Given the description of an element on the screen output the (x, y) to click on. 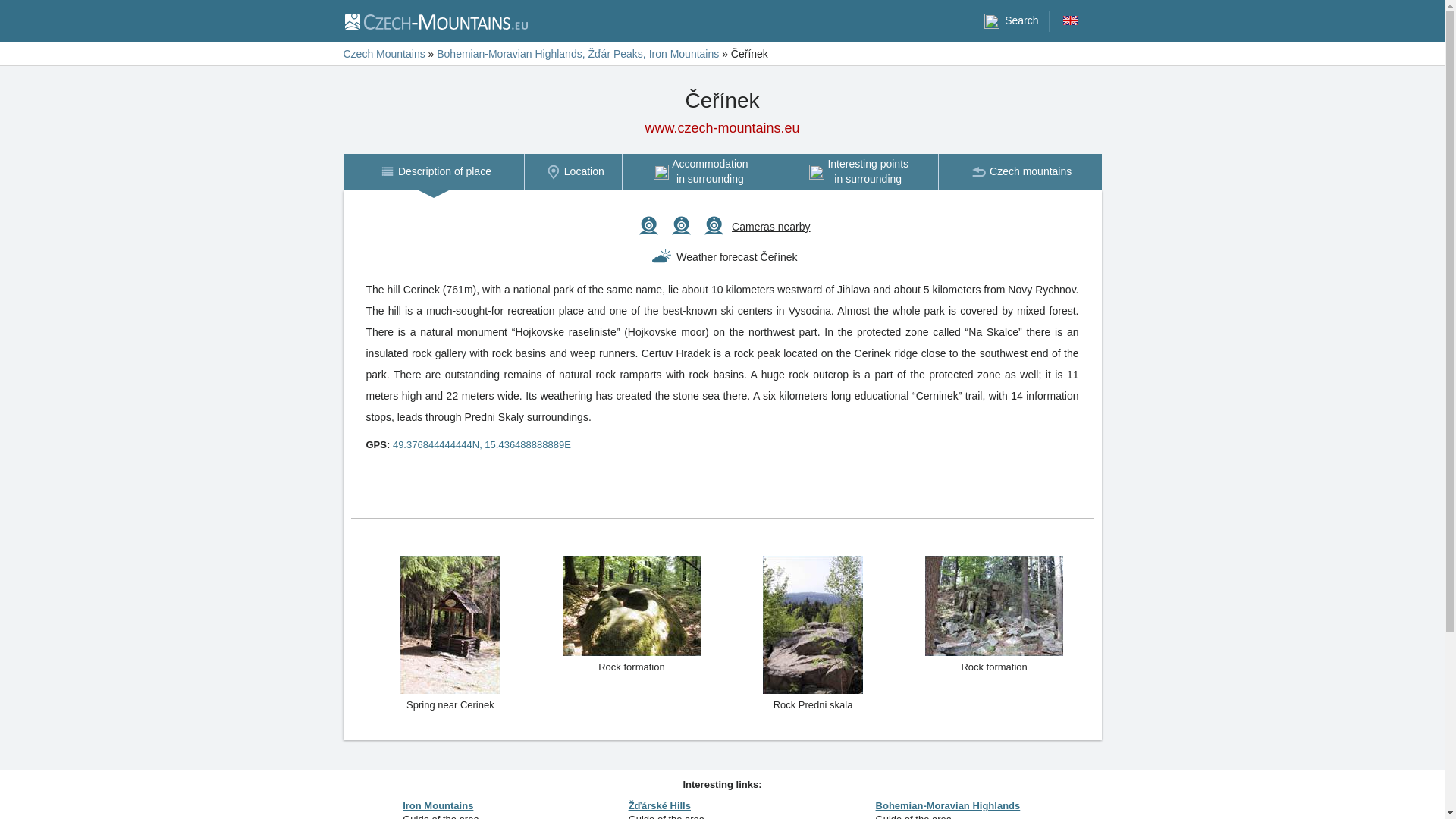
Czech Mountains - accommodation without commission (1019, 171)
Search (1011, 20)
Czech Mountains - accommodation without commission (434, 20)
Czech Mountains - accommodation without commission (722, 128)
Cameras nearby (856, 171)
Czech mountains (771, 226)
Czech Mountains - accommodation without commission (1019, 171)
49.376844444444N, 15.436488888889E (435, 21)
Czech Mountains (481, 444)
Location (383, 53)
Description of place (572, 171)
www.czech-mountains.eu (433, 171)
Czech Mountains - accommodation without commission (722, 128)
